Given the description of an element on the screen output the (x, y) to click on. 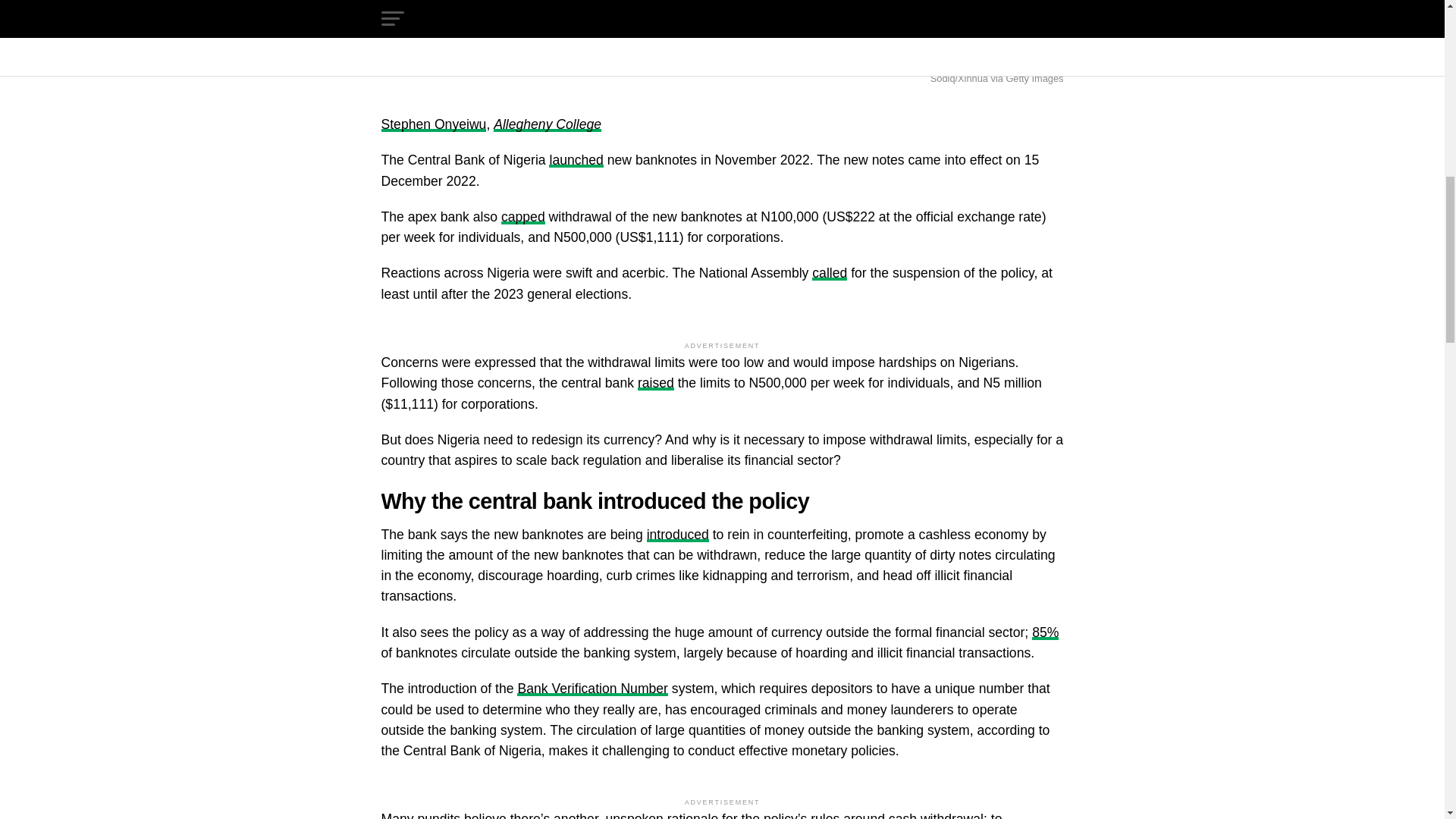
Allegheny College (547, 124)
called (829, 272)
raised (655, 382)
Bank Verification Number (592, 688)
Stephen Onyeiwu (433, 124)
capped (522, 216)
launched (575, 159)
introduced (677, 534)
believe (485, 815)
